Given the description of an element on the screen output the (x, y) to click on. 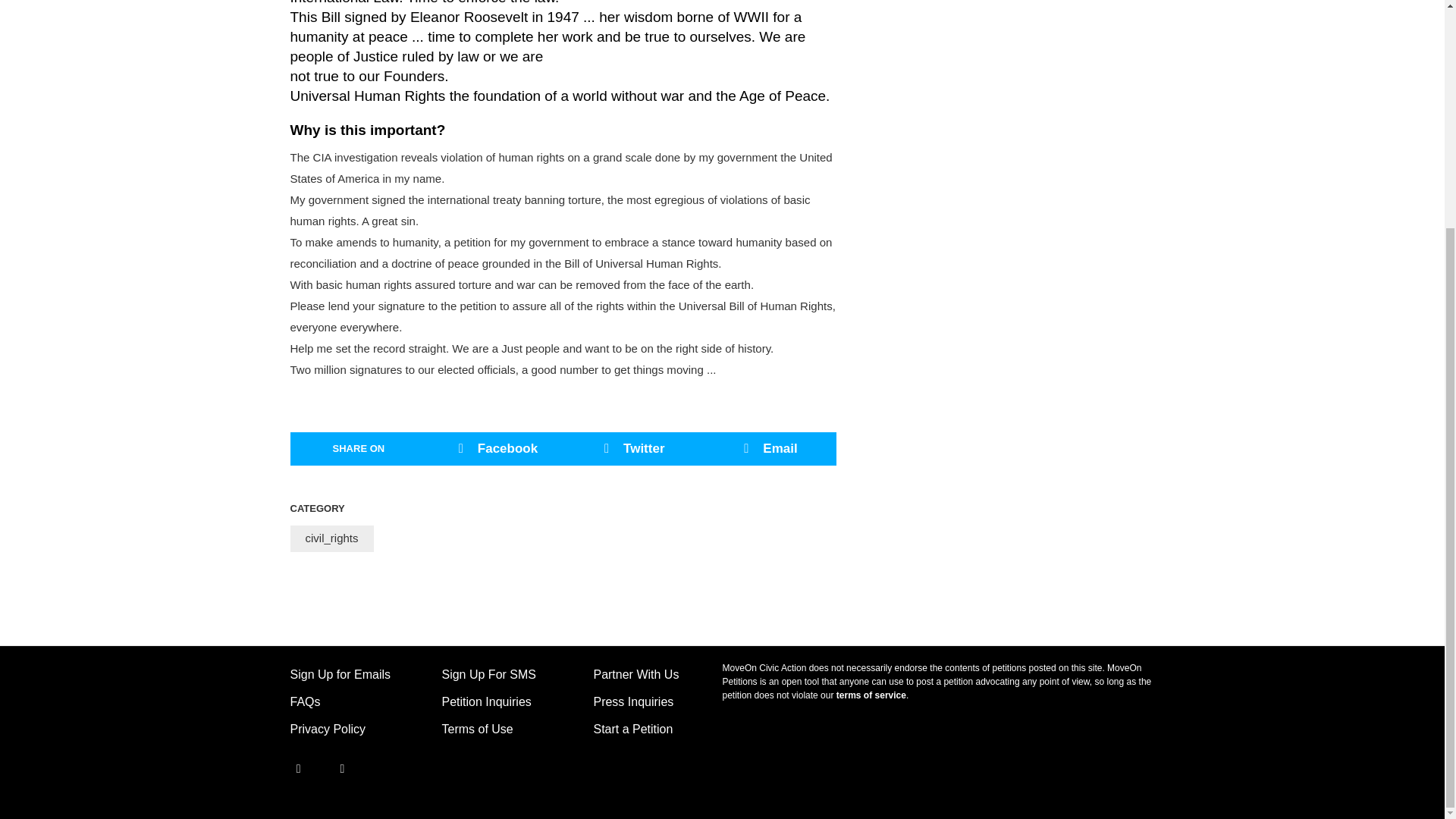
Sign Up For SMS (488, 673)
Twitter (631, 449)
Share via Email (766, 449)
Twitter (329, 767)
Terms of Use (476, 727)
Email (766, 449)
Facebook (494, 449)
Facebook (297, 767)
Start a Petition (632, 727)
Partner With Us (635, 673)
